Given the description of an element on the screen output the (x, y) to click on. 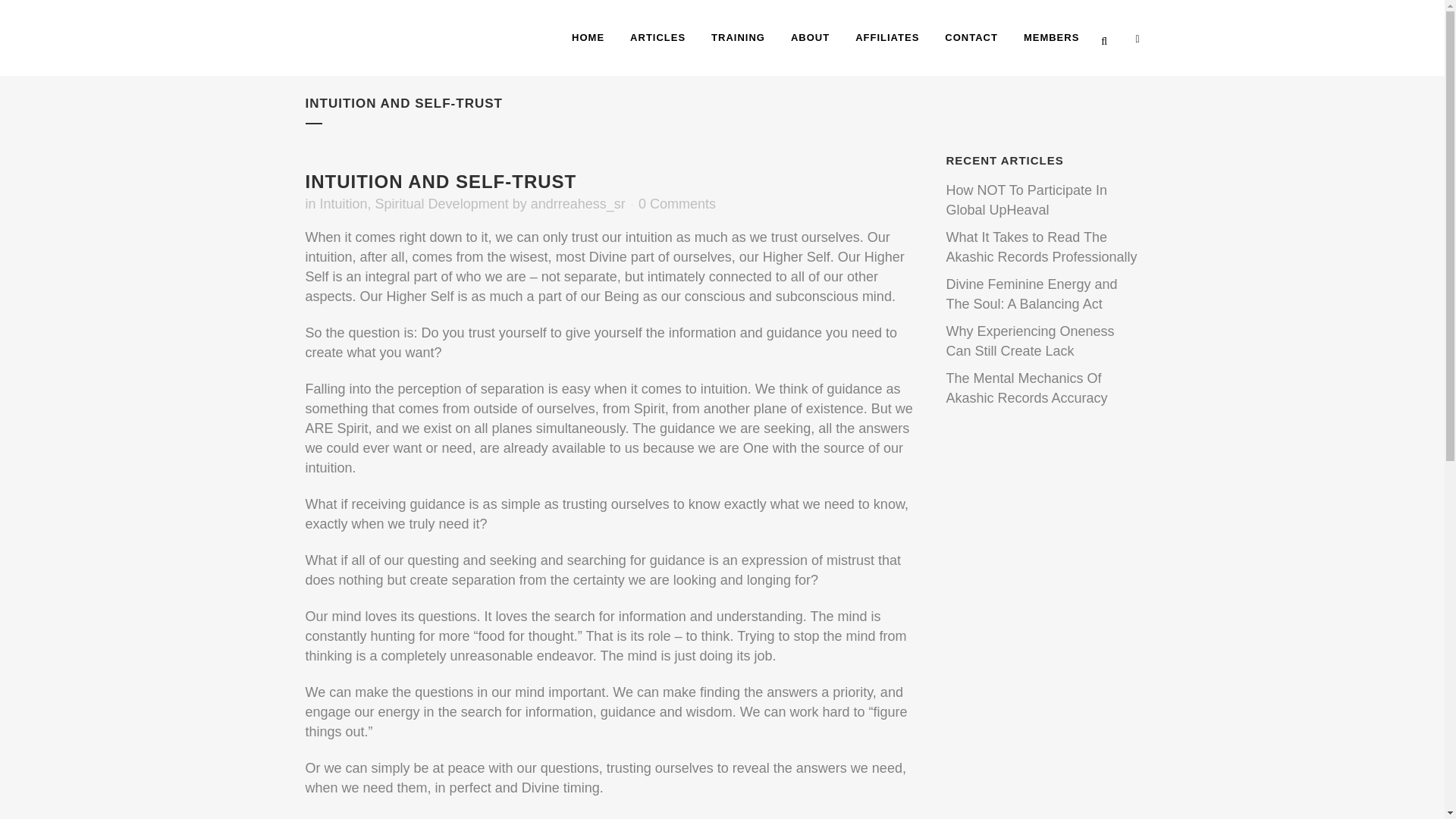
Spiritual Development (441, 203)
TRAINING (737, 38)
The Mental Mechanics Of Akashic Records Accuracy (1027, 388)
What It Takes to Read The Akashic Records Professionally (1041, 247)
How NOT To Participate In Global UpHeaval (1026, 199)
AFFILIATES (887, 38)
0 Comments (677, 203)
Divine Feminine Energy and The Soul: A Balancing Act (1032, 294)
Why Experiencing Oneness Can Still Create Lack (1030, 340)
Intuition (344, 203)
